Given the description of an element on the screen output the (x, y) to click on. 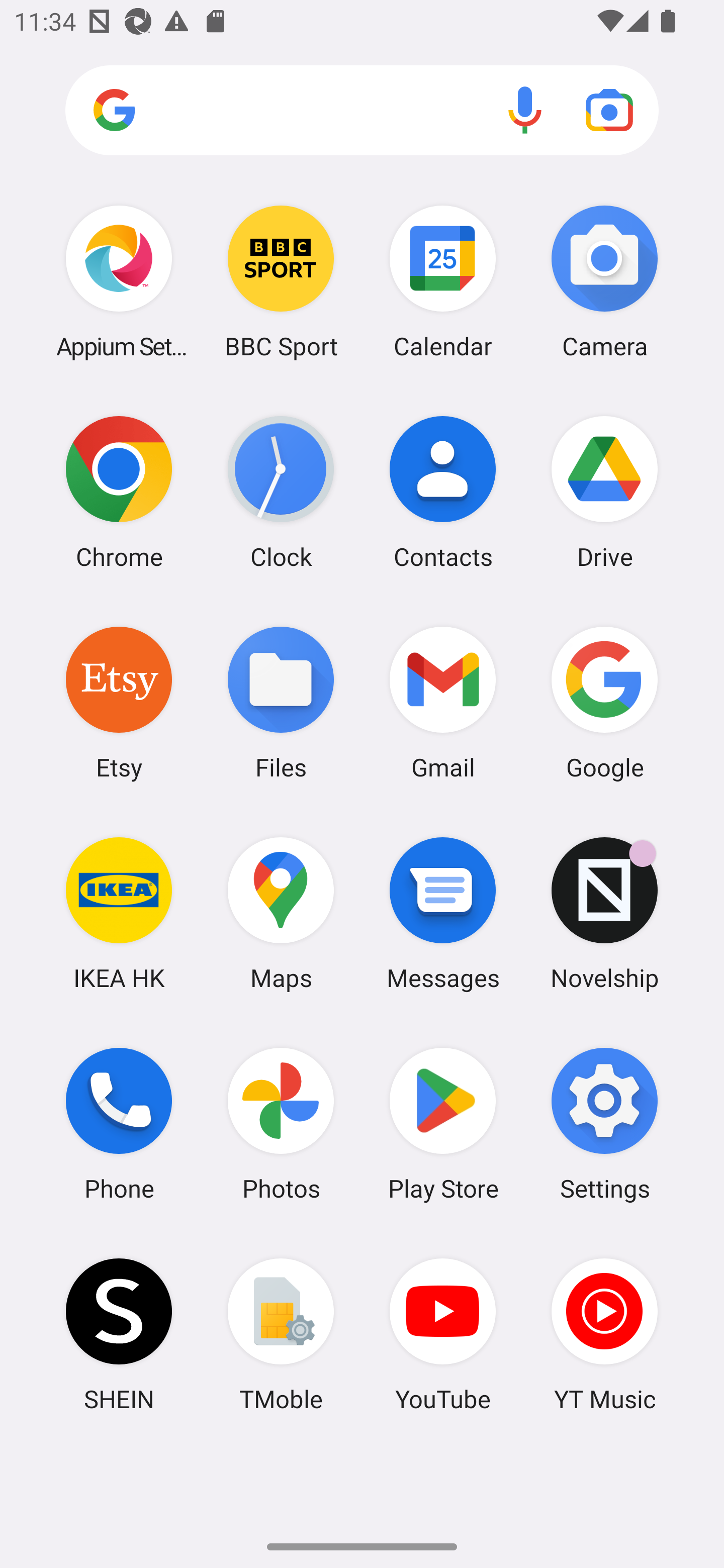
Search apps, web and more (361, 110)
Voice search (524, 109)
Google Lens (608, 109)
Appium Settings (118, 281)
BBC Sport (280, 281)
Calendar (443, 281)
Camera (604, 281)
Chrome (118, 492)
Clock (280, 492)
Contacts (443, 492)
Drive (604, 492)
Etsy (118, 702)
Files (280, 702)
Gmail (443, 702)
Google (604, 702)
IKEA HK (118, 913)
Maps (280, 913)
Messages (443, 913)
Novelship Novelship has 5 notifications (604, 913)
Phone (118, 1124)
Photos (280, 1124)
Play Store (443, 1124)
Settings (604, 1124)
SHEIN (118, 1334)
TMoble (280, 1334)
YouTube (443, 1334)
YT Music (604, 1334)
